Given the description of an element on the screen output the (x, y) to click on. 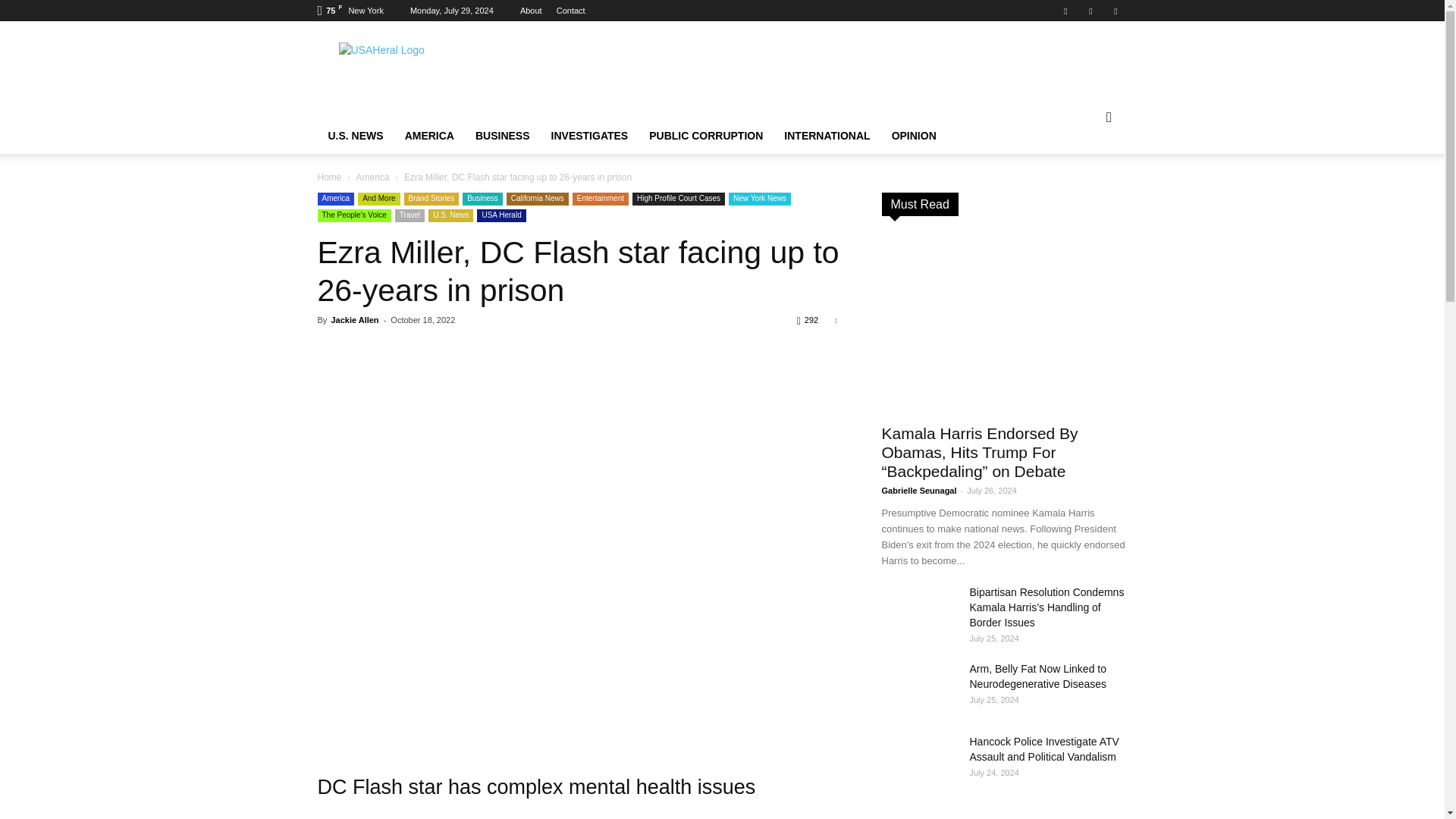
RSS (1090, 10)
Contact (570, 10)
Facebook (1065, 10)
BUSINESS (502, 135)
OPINION (913, 135)
U.S. NEWS (355, 135)
INTERNATIONAL (826, 135)
INVESTIGATES (589, 135)
Home (445, 76)
AMERICA (429, 135)
PUBLIC CORRUPTION (706, 135)
Twitter (1114, 10)
About (530, 10)
